Given the description of an element on the screen output the (x, y) to click on. 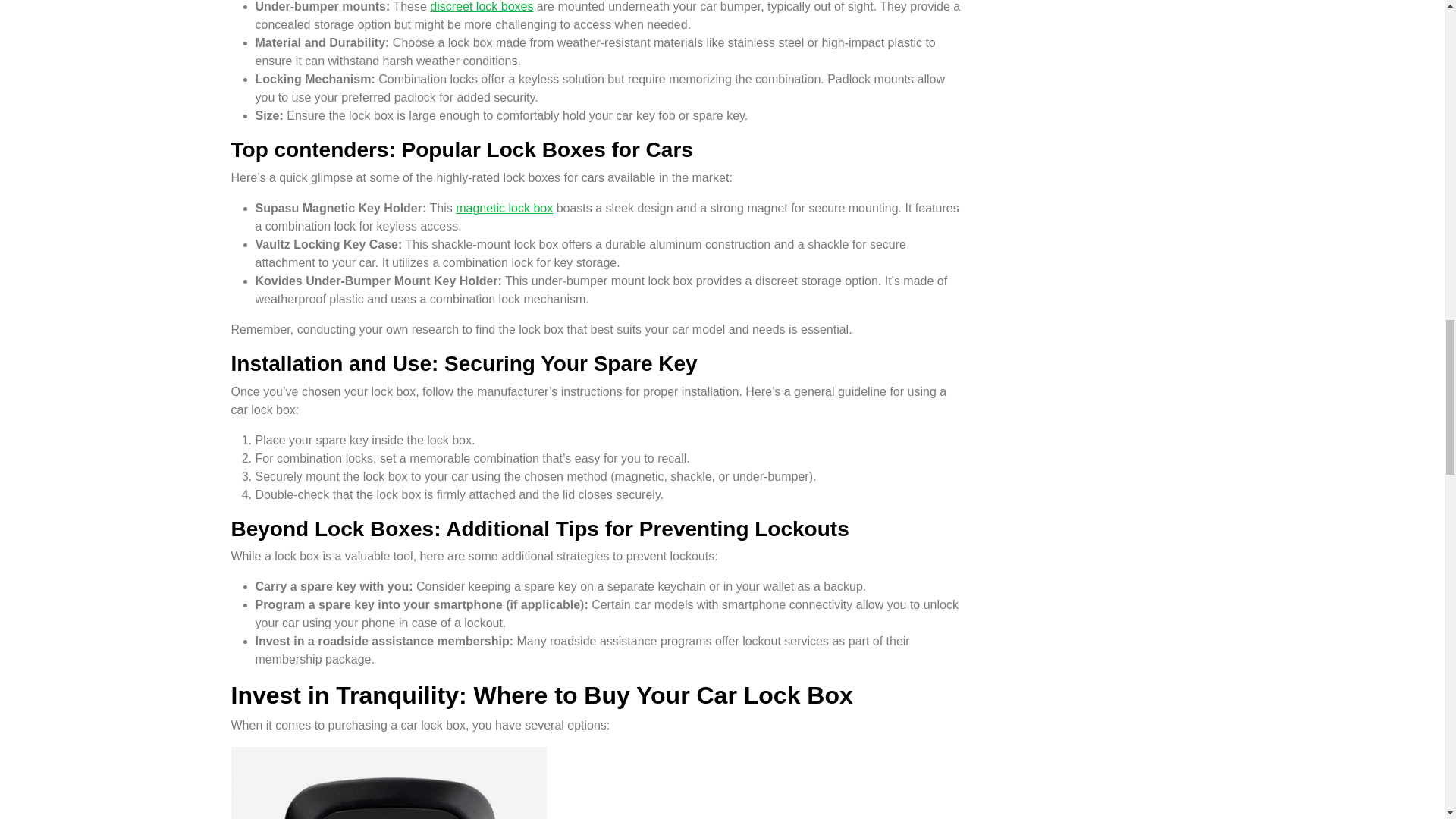
discreet lock boxes (480, 6)
magnetic lock box (504, 207)
